Given the description of an element on the screen output the (x, y) to click on. 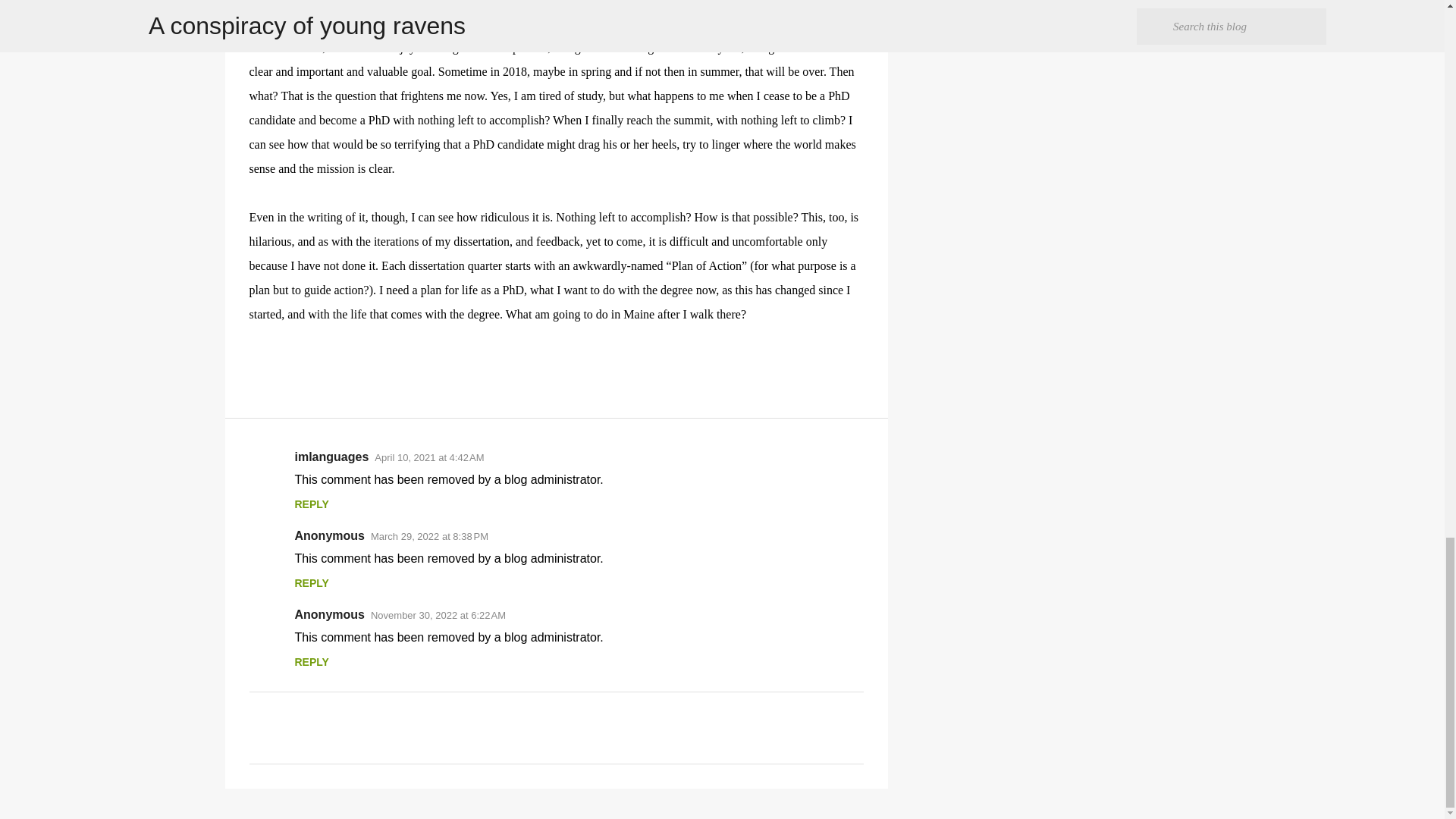
REPLY (311, 662)
imlanguages (331, 456)
REPLY (311, 503)
REPLY (311, 582)
